Given the description of an element on the screen output the (x, y) to click on. 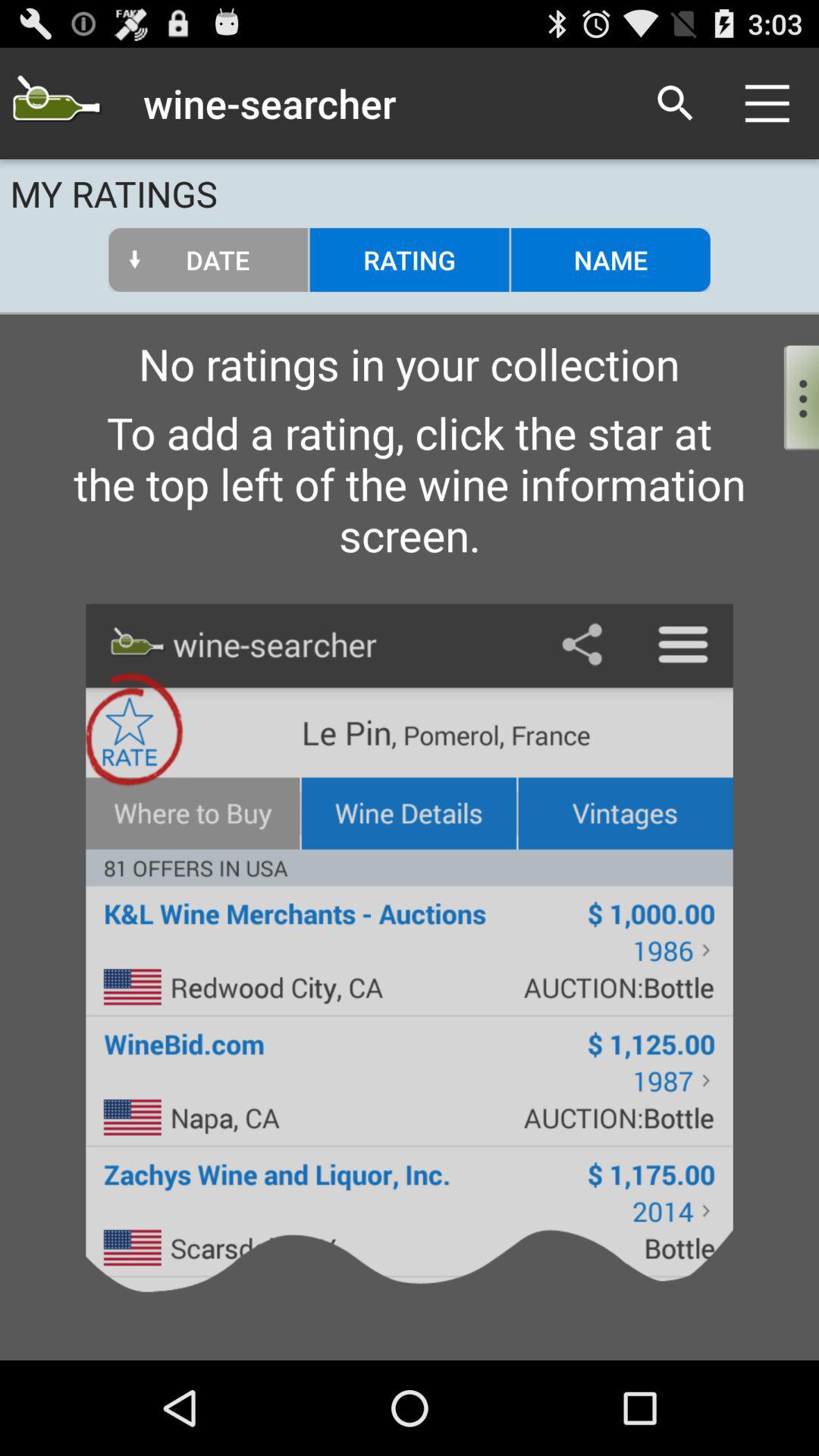
more options (789, 393)
